Given the description of an element on the screen output the (x, y) to click on. 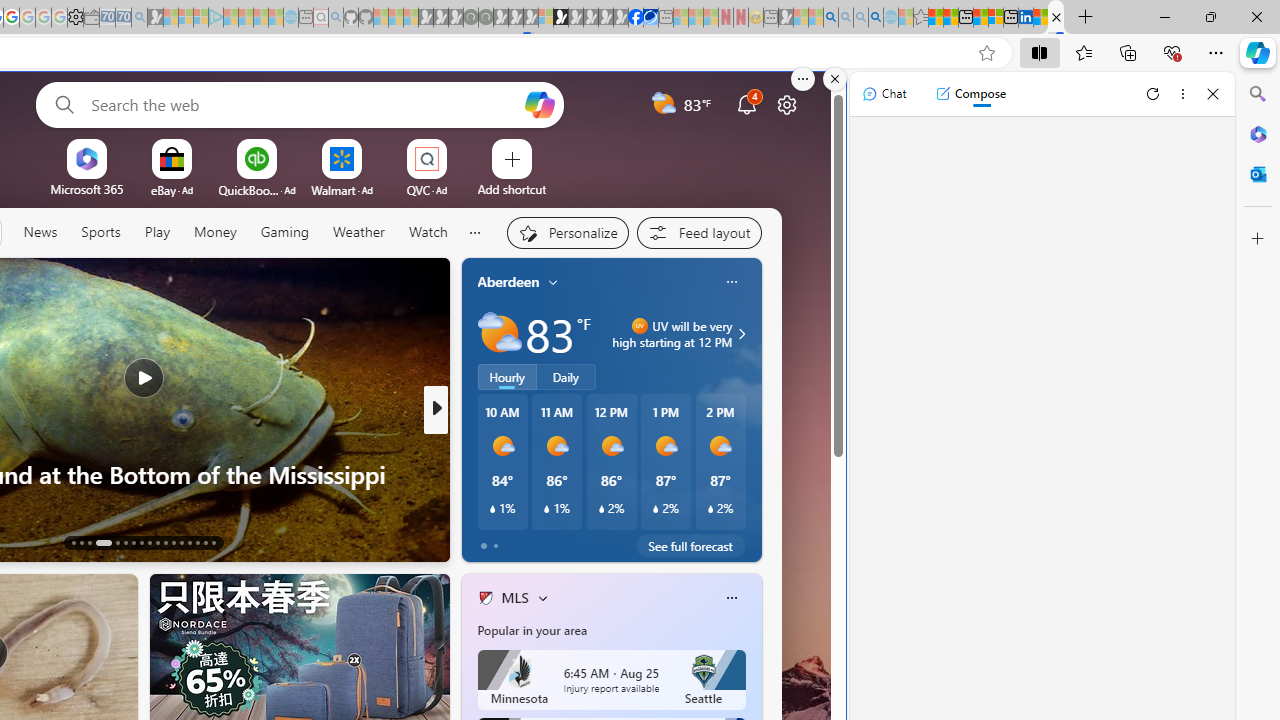
View comments 14 Comment (568, 541)
15 Times Snakes Messed With The Wrong Opponent (758, 506)
AQI & Health | AirNow.gov (650, 17)
AutomationID: tab-25 (180, 542)
Lifewire (477, 473)
Aberdeen, Hong Kong SAR weather forecast | Microsoft Weather (950, 17)
View comments 2 Comment (568, 541)
887 Like (490, 541)
Geography Facts Most People Get Wrong (758, 506)
Page settings (786, 104)
207 Like (490, 541)
